Given the description of an element on the screen output the (x, y) to click on. 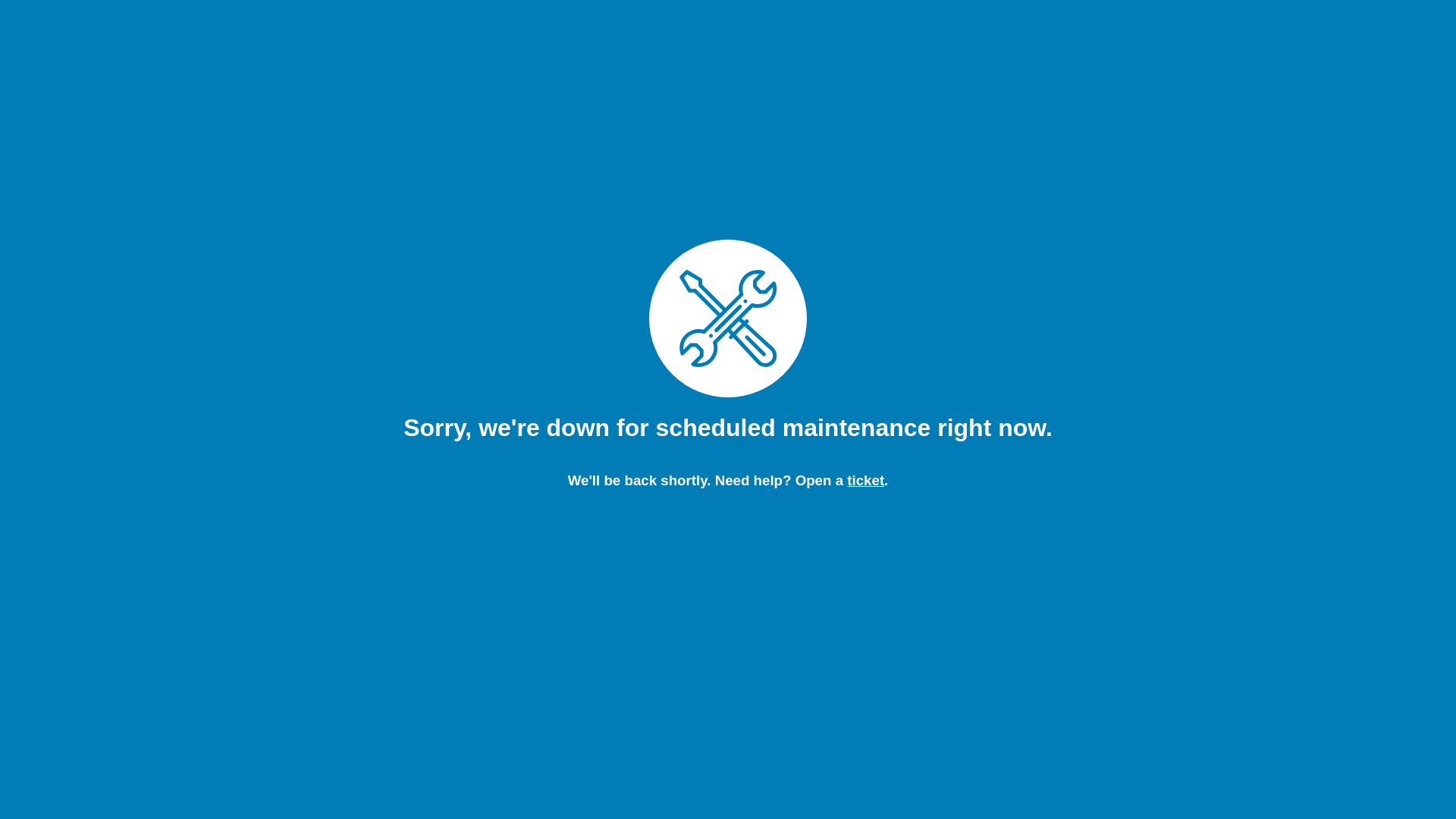
ticket Element type: text (865, 480)
